Given the description of an element on the screen output the (x, y) to click on. 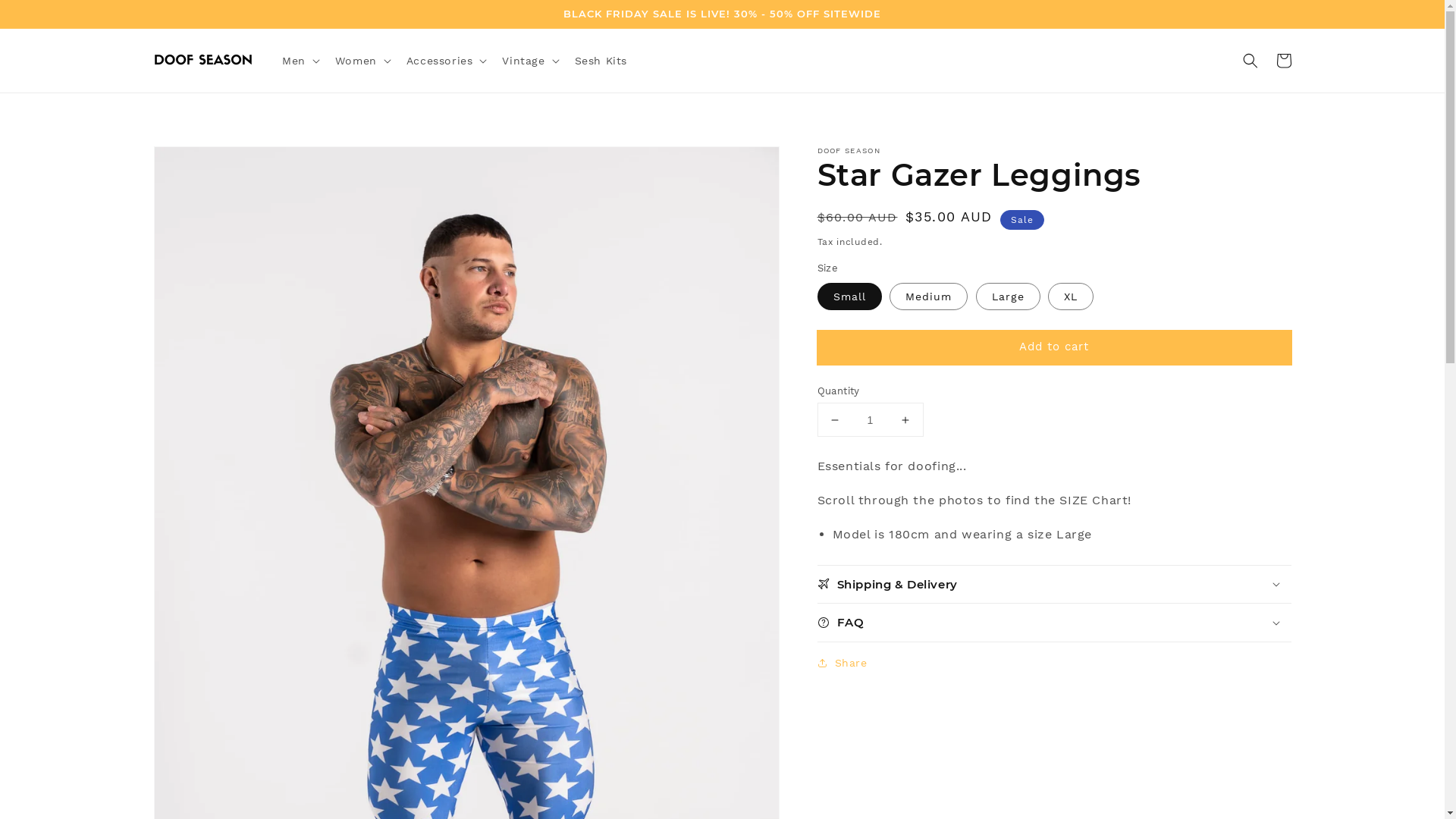
Increase quantity for Star Gazer Leggings Element type: text (905, 419)
Skip to product information Element type: text (198, 162)
Sesh Kits Element type: text (600, 60)
Decrease quantity for Star Gazer Leggings Element type: text (834, 419)
Add to cart Element type: text (1054, 347)
Cart Element type: text (1282, 60)
